Given the description of an element on the screen output the (x, y) to click on. 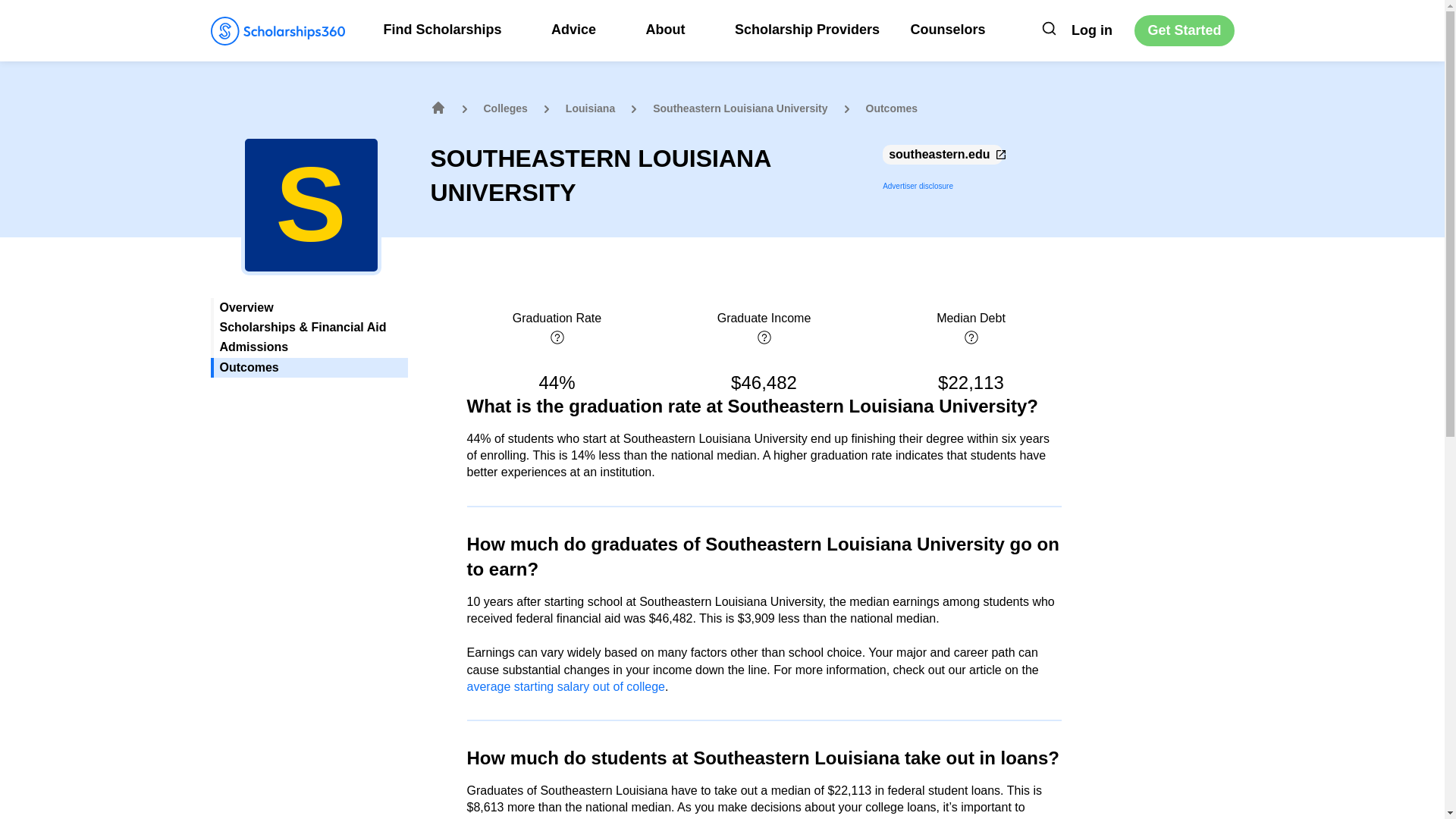
Scholarship Providers (807, 29)
Get Started (1183, 30)
About (674, 29)
Counselors (947, 29)
Log in (1091, 30)
Advice (582, 29)
Find Scholarships (452, 29)
